Given the description of an element on the screen output the (x, y) to click on. 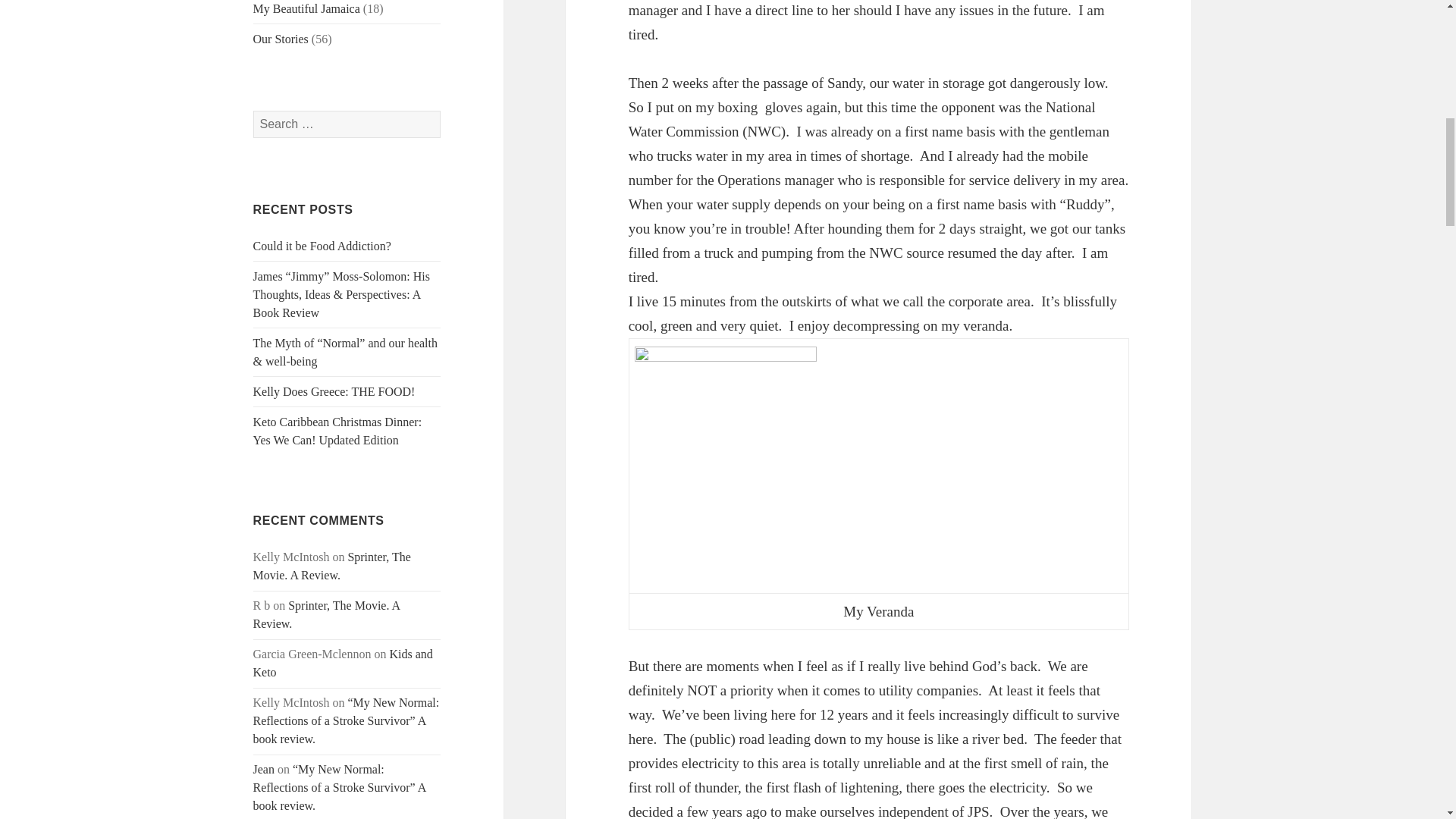
Jean (264, 768)
Keto Caribbean Christmas Dinner: Yes We Can! Updated Edition (337, 430)
My Beautiful Jamaica (306, 8)
Kelly Does Greece: THE FOOD! (333, 391)
Our Stories (280, 38)
Kids and Keto (342, 662)
Sprinter, The Movie. A Review. (331, 565)
Could it be Food Addiction? (322, 245)
Sprinter, The Movie. A Review. (326, 613)
